Given the description of an element on the screen output the (x, y) to click on. 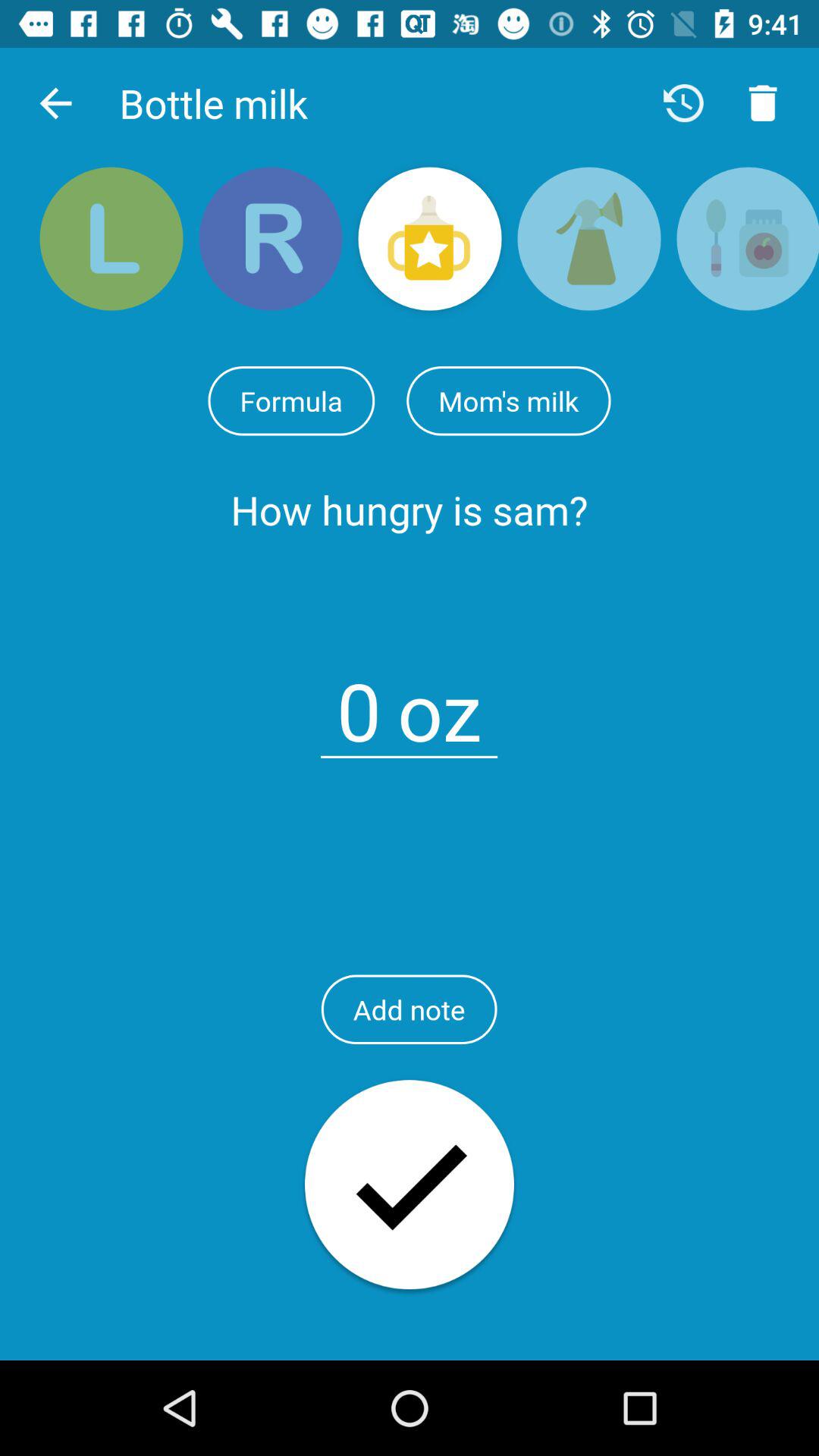
press the icon to the left of mom's milk (291, 400)
